Given the description of an element on the screen output the (x, y) to click on. 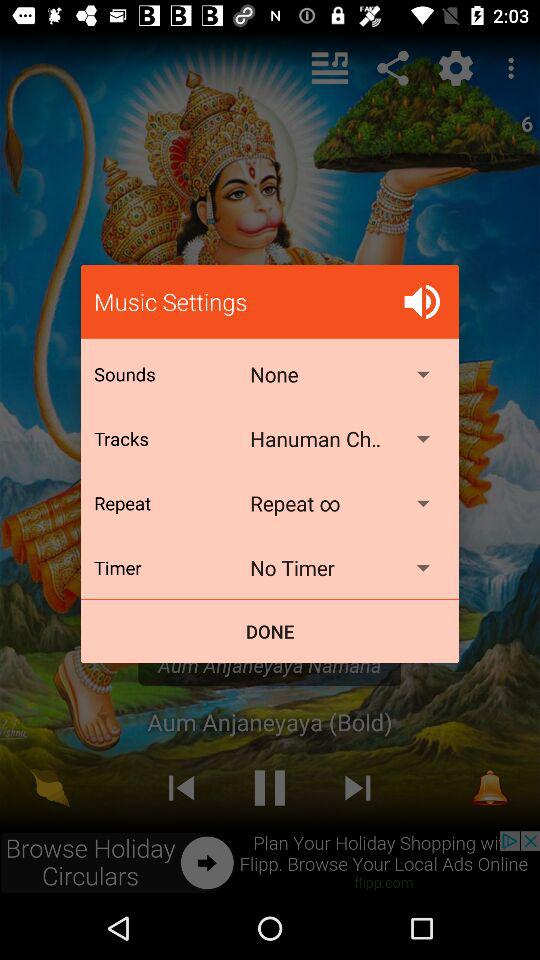
tap the item next to the music settings icon (421, 301)
